Given the description of an element on the screen output the (x, y) to click on. 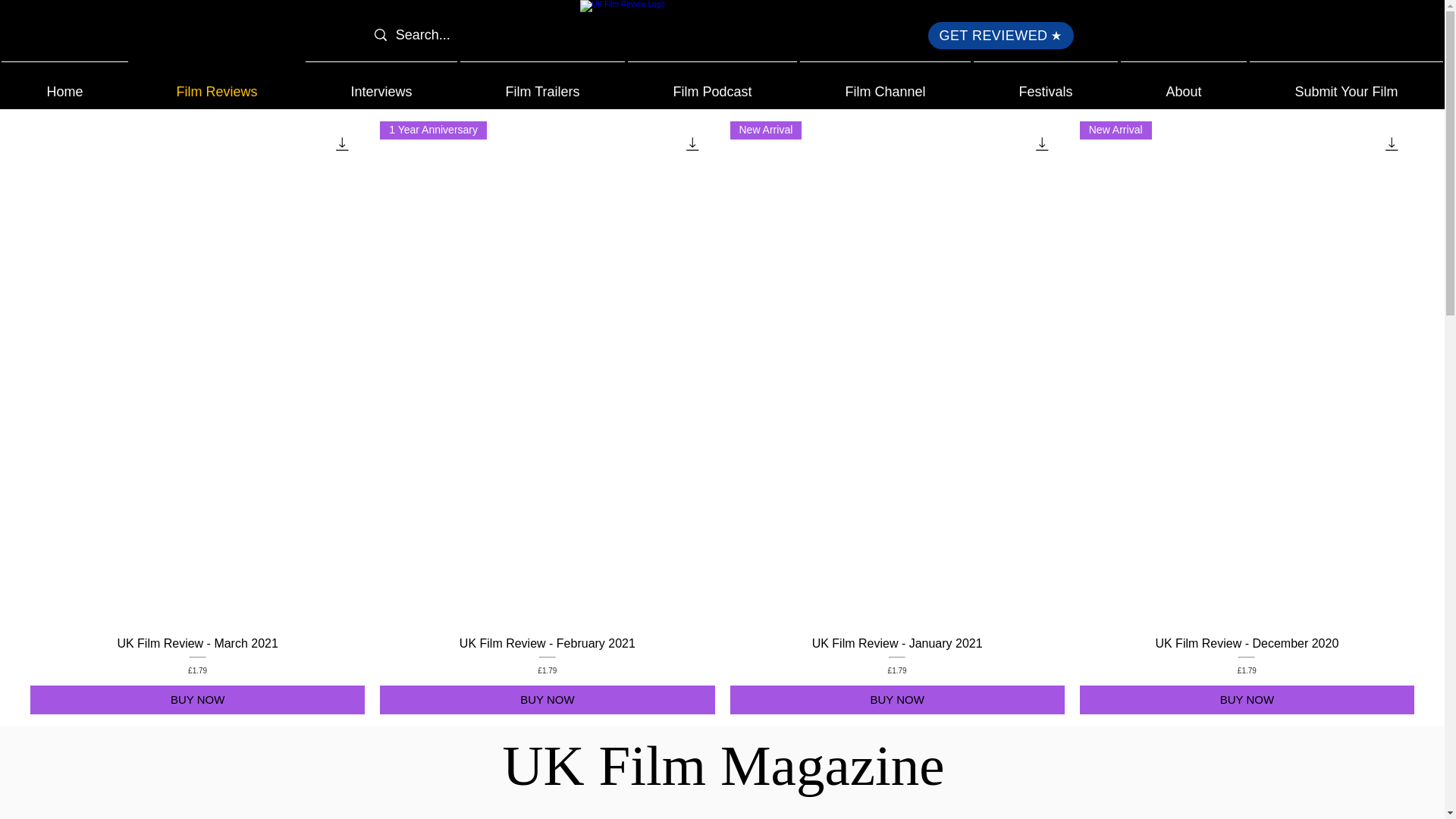
Film Podcast (711, 84)
Film Channel (884, 84)
Festivals (1045, 84)
UK Film Review Logo (723, 40)
GET REVIEWED (1001, 35)
Interviews (381, 84)
Home (64, 84)
Film Trailers (542, 84)
Film Reviews (216, 84)
